Given the description of an element on the screen output the (x, y) to click on. 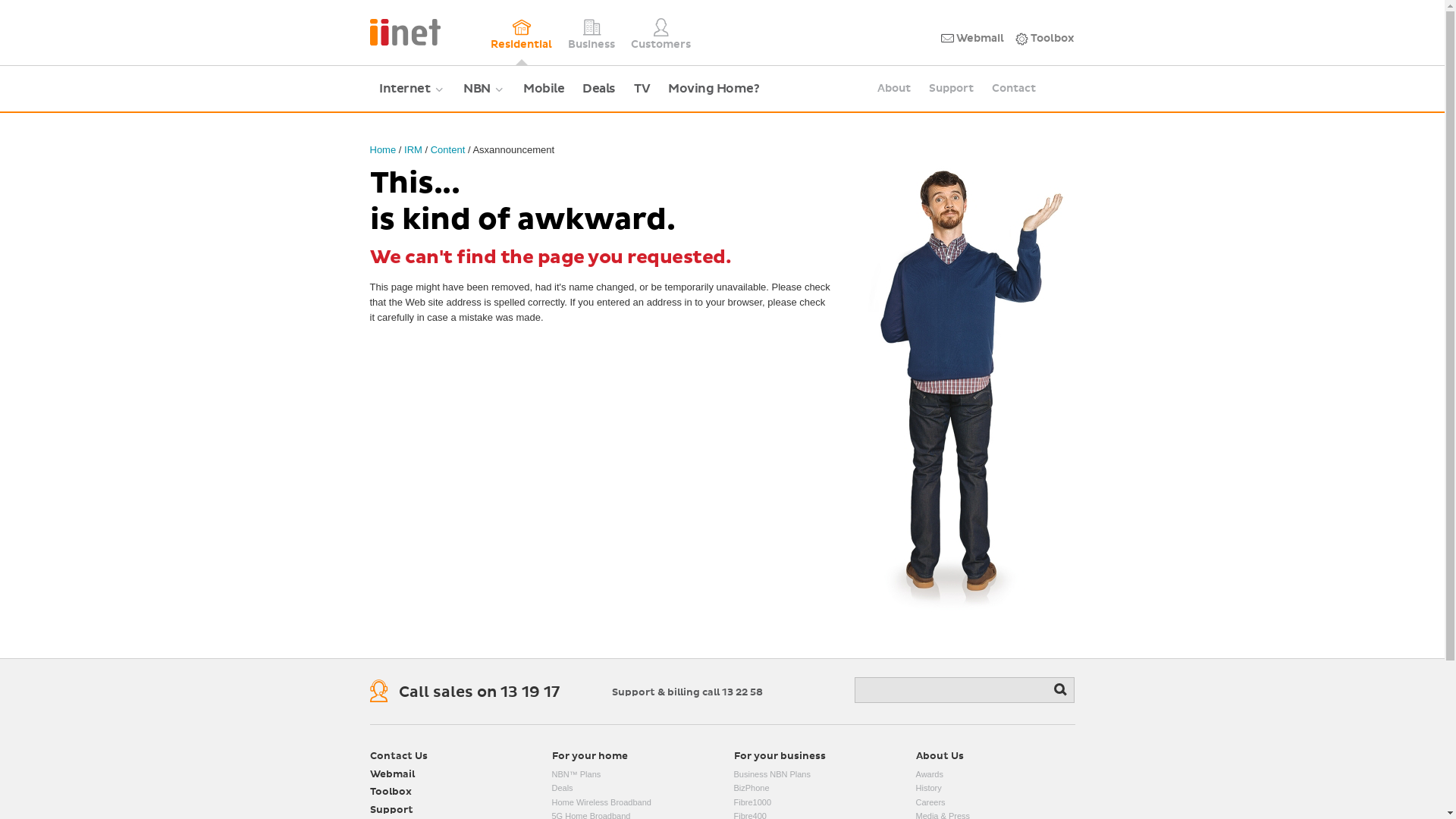
Content Element type: text (447, 149)
Deals Element type: text (598, 88)
IRM Element type: text (413, 149)
For your business Element type: text (779, 756)
Toolbox Element type: text (390, 792)
Home Element type: text (383, 149)
BizPhone Element type: text (751, 787)
TV Element type: text (641, 88)
Customers Element type: text (660, 32)
Contact Element type: text (1013, 88)
Business Element type: text (591, 32)
Toolbox Element type: text (1044, 38)
Skip to main content Element type: text (370, 0)
Moving Home? Element type: text (712, 88)
Contact Us Element type: text (398, 756)
Business NBN Plans Element type: text (772, 773)
Support Element type: text (950, 88)
Support & billing call 13 22 58 Element type: text (686, 691)
Residential Element type: text (521, 32)
Internet Element type: text (412, 88)
Mobile Element type: text (543, 88)
Fibre1000 Element type: text (752, 801)
For your home Element type: text (589, 756)
Home Wireless Broadband Element type: text (601, 801)
Call sales on 13 19 17 Element type: text (478, 692)
History Element type: text (928, 787)
Support Element type: text (391, 810)
Webmail Element type: text (392, 775)
Deals Element type: text (562, 787)
NBN Element type: text (483, 88)
About Us Element type: text (939, 756)
Careers Element type: text (930, 801)
Webmail Element type: text (972, 38)
About Element type: text (893, 88)
Awards Element type: text (929, 773)
